Given the description of an element on the screen output the (x, y) to click on. 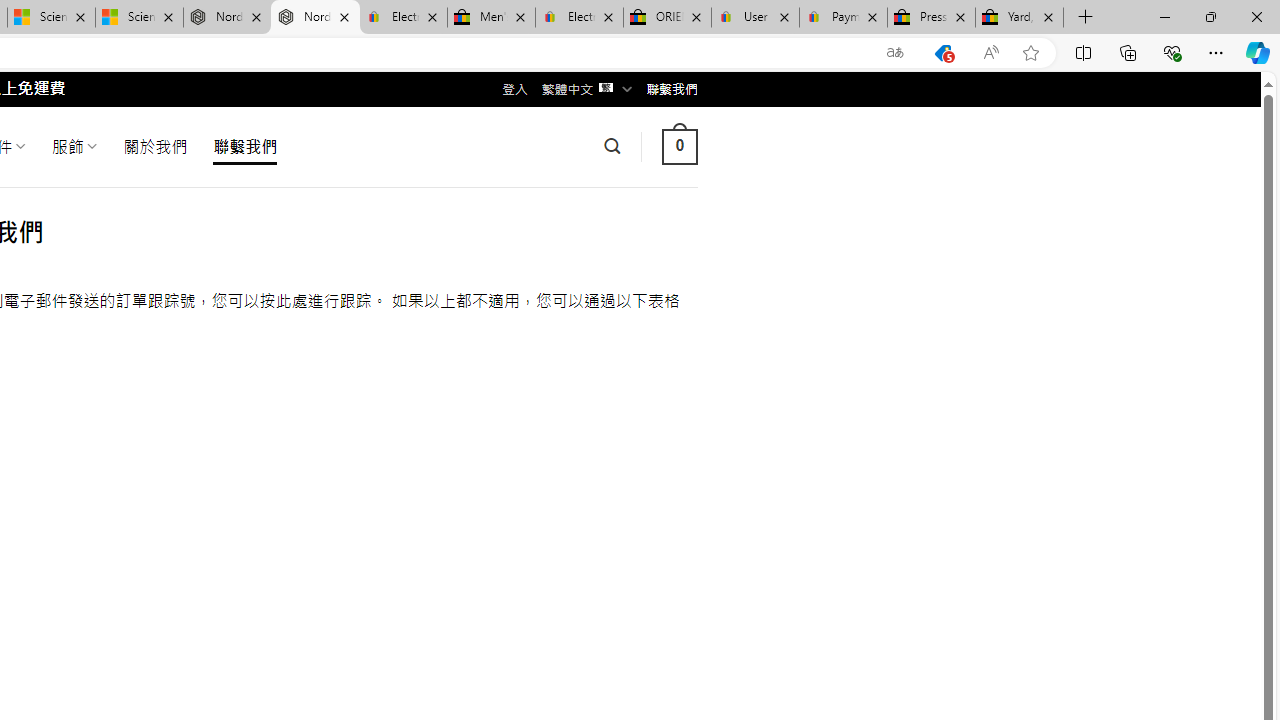
  0   (679, 146)
This site has coupons! Shopping in Microsoft Edge, 5 (943, 53)
